Given the description of an element on the screen output the (x, y) to click on. 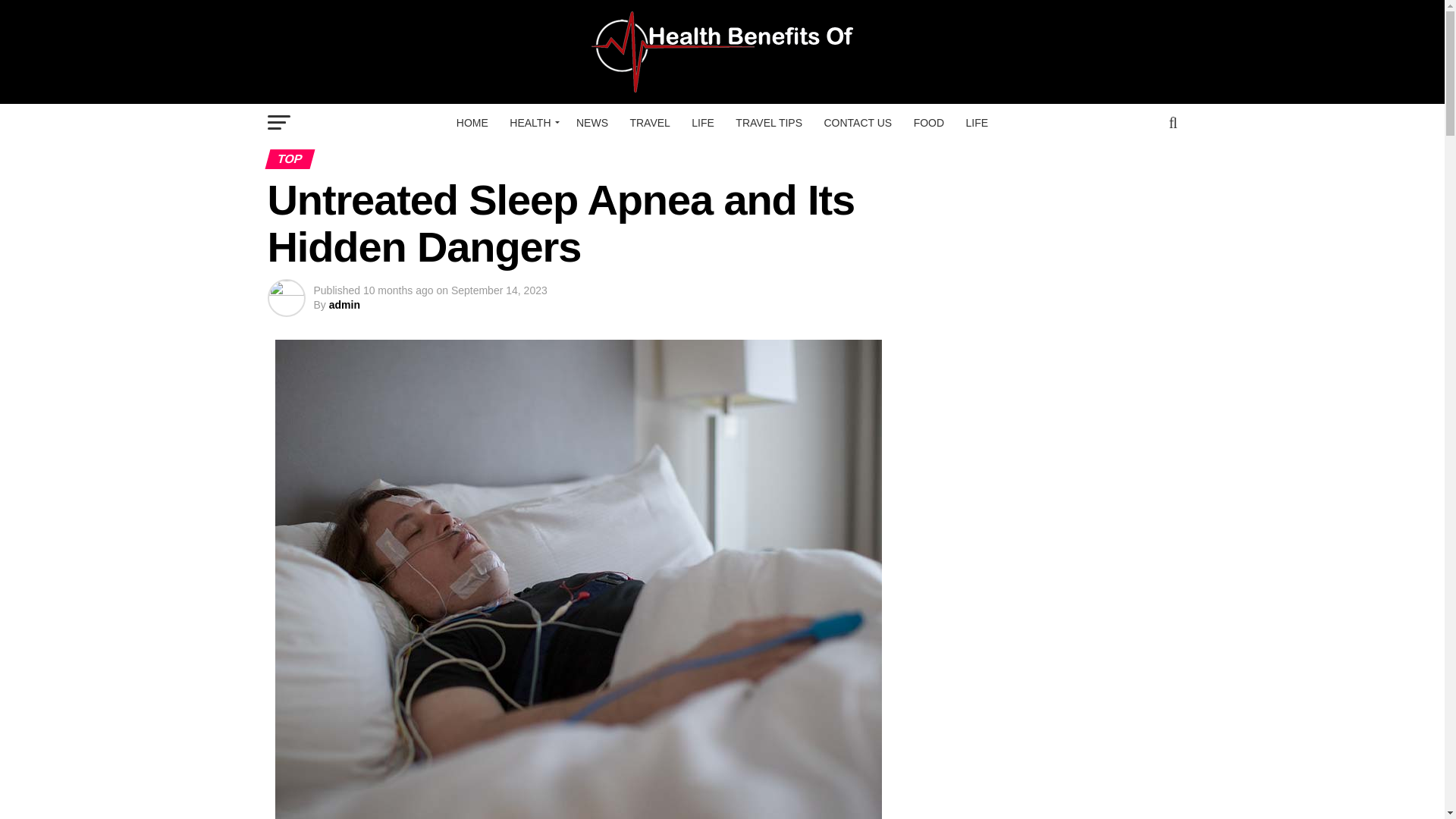
TRAVEL (649, 122)
NEWS (592, 122)
HEALTH (531, 122)
HOME (471, 122)
FOOD (928, 122)
Posts by admin (344, 304)
LIFE (976, 122)
LIFE (702, 122)
CONTACT US (857, 122)
TRAVEL TIPS (768, 122)
